Given the description of an element on the screen output the (x, y) to click on. 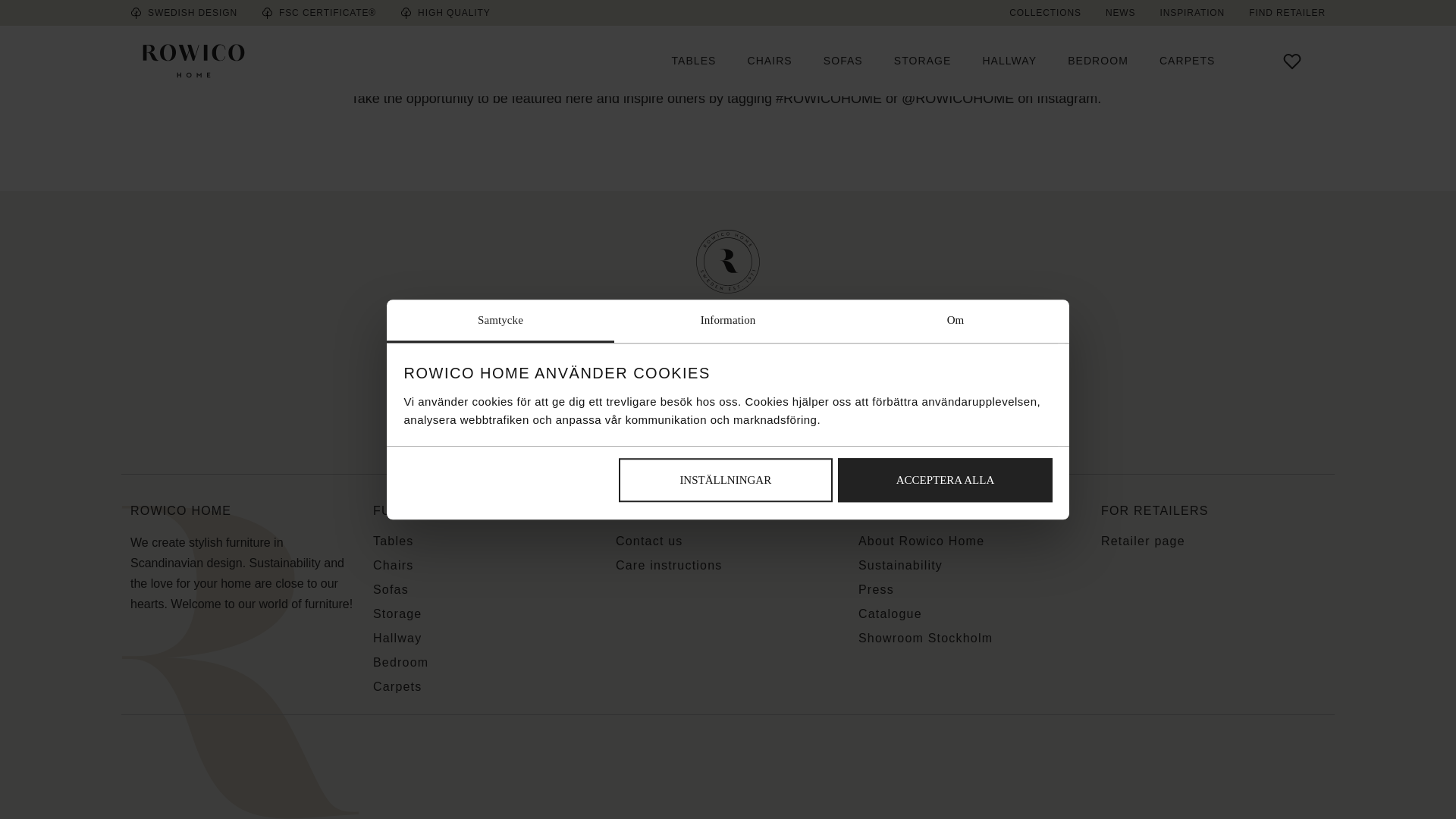
Scroll to top (727, 296)
